Given the description of an element on the screen output the (x, y) to click on. 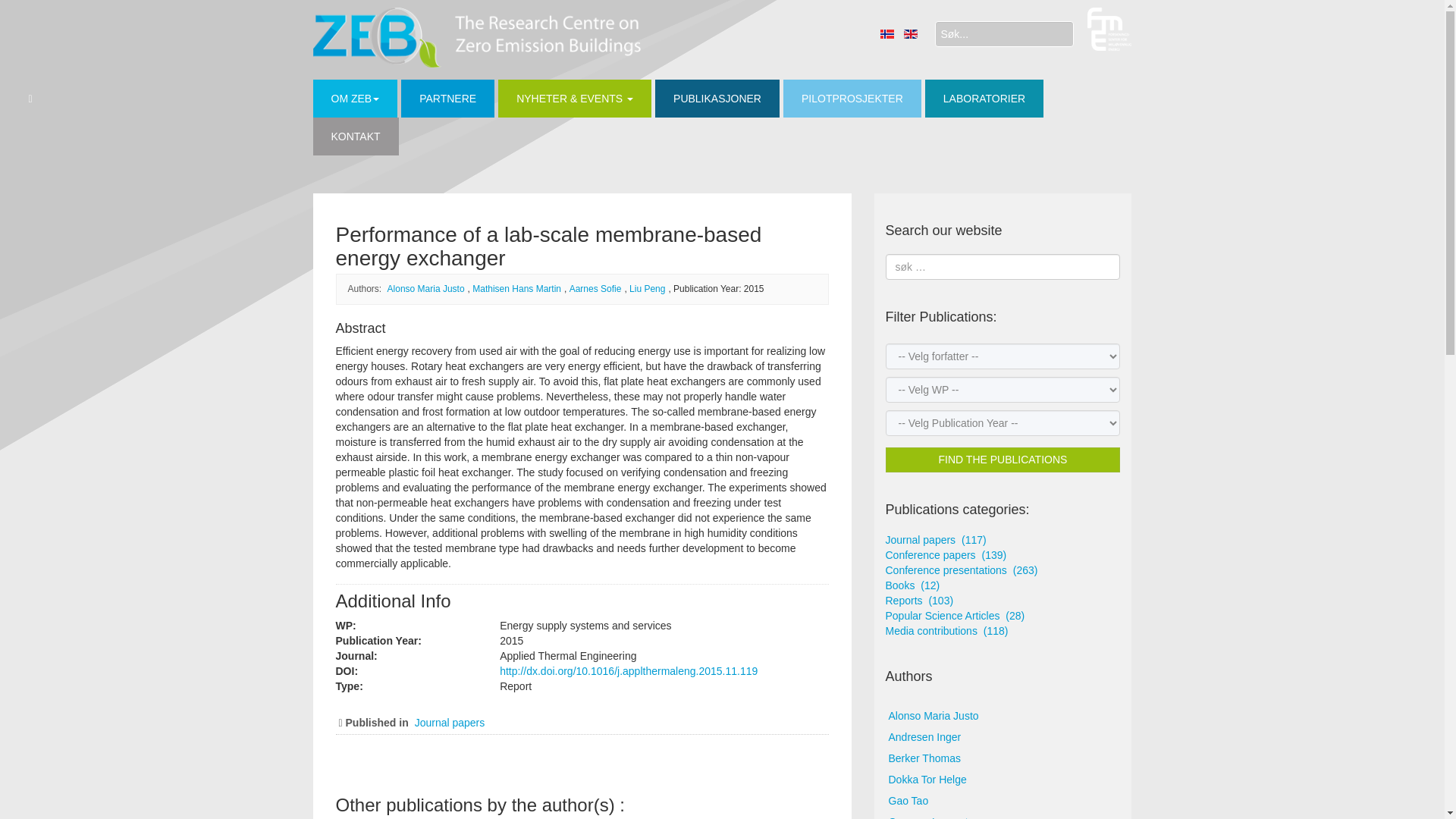
13 items tagged with Alonso Maria Justo (1003, 716)
ZEB (476, 37)
OM ZEB (355, 98)
35 items tagged with Berker Thomas (1003, 758)
FIND THE PUBLICATIONS (1003, 459)
55 items tagged with Gao Tao (1003, 801)
47 items tagged with Andresen Inger (1003, 737)
37 items tagged with Dokka Tor Helge (1003, 780)
37 items tagged with Georges Laurent (1003, 815)
PARTNERE (448, 98)
